Given the description of an element on the screen output the (x, y) to click on. 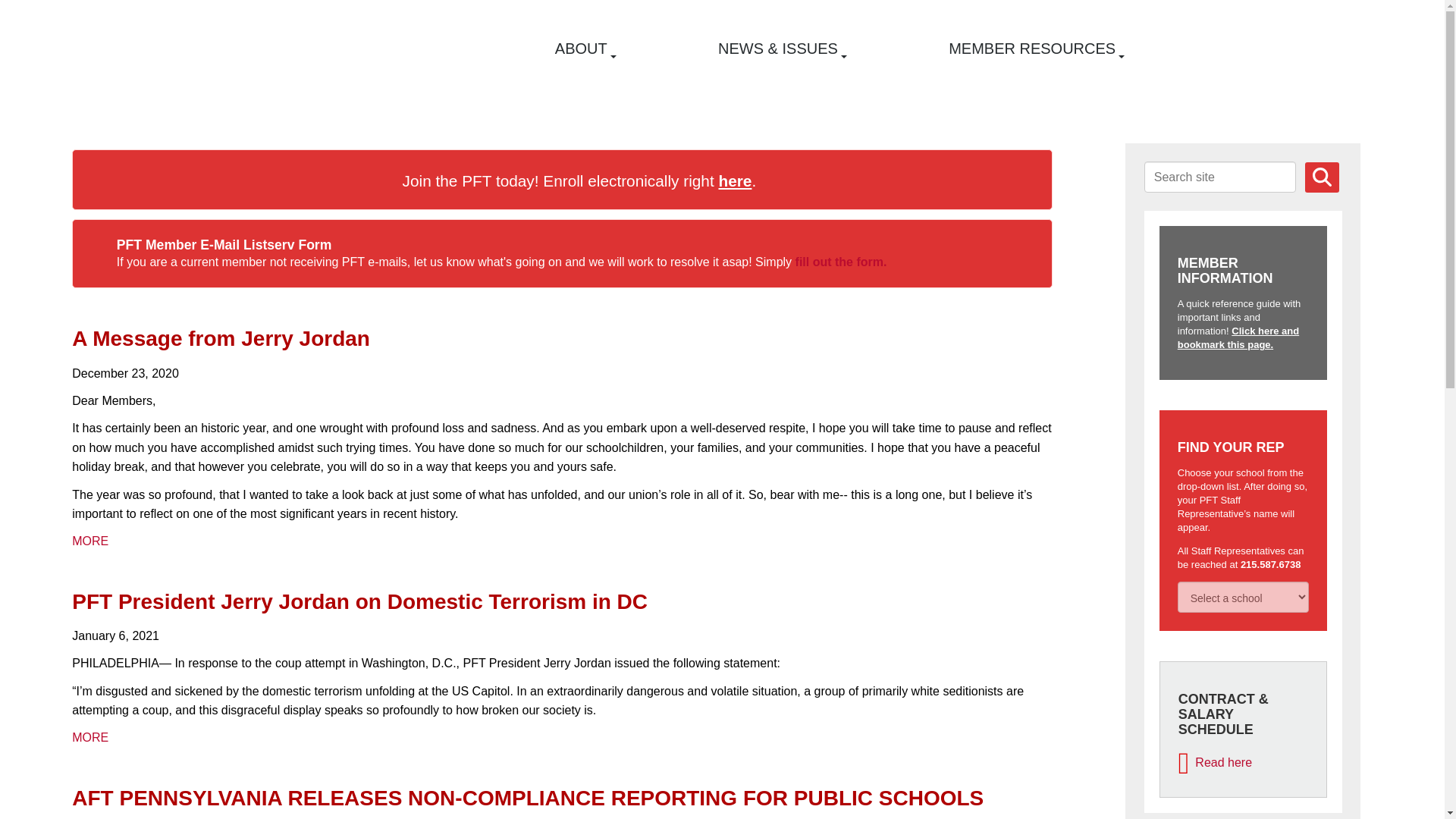
ABOUT (584, 48)
HOME (353, 54)
Search (1321, 177)
Read here (1214, 762)
Click here and bookmark this page. (1237, 337)
MORE (89, 540)
A Message from Jerry Jordan (220, 338)
Search (1321, 177)
PFT President Jerry Jordan on Domestic Terrorism in DC (359, 601)
